Given the description of an element on the screen output the (x, y) to click on. 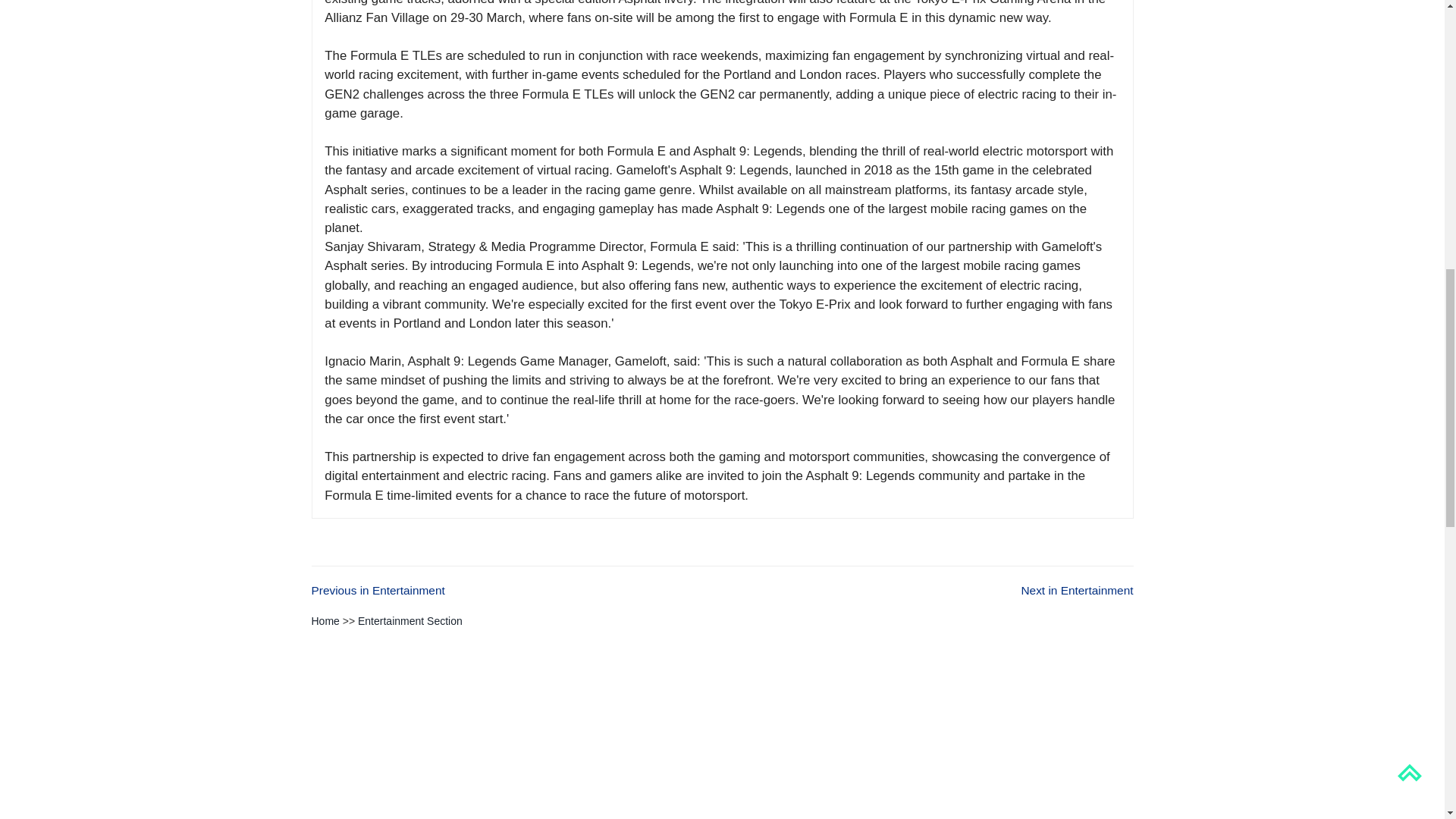
Next in Entertainment (1076, 590)
Home (325, 621)
Entertainment Section (410, 621)
Previous in Entertainment (377, 590)
